Given the description of an element on the screen output the (x, y) to click on. 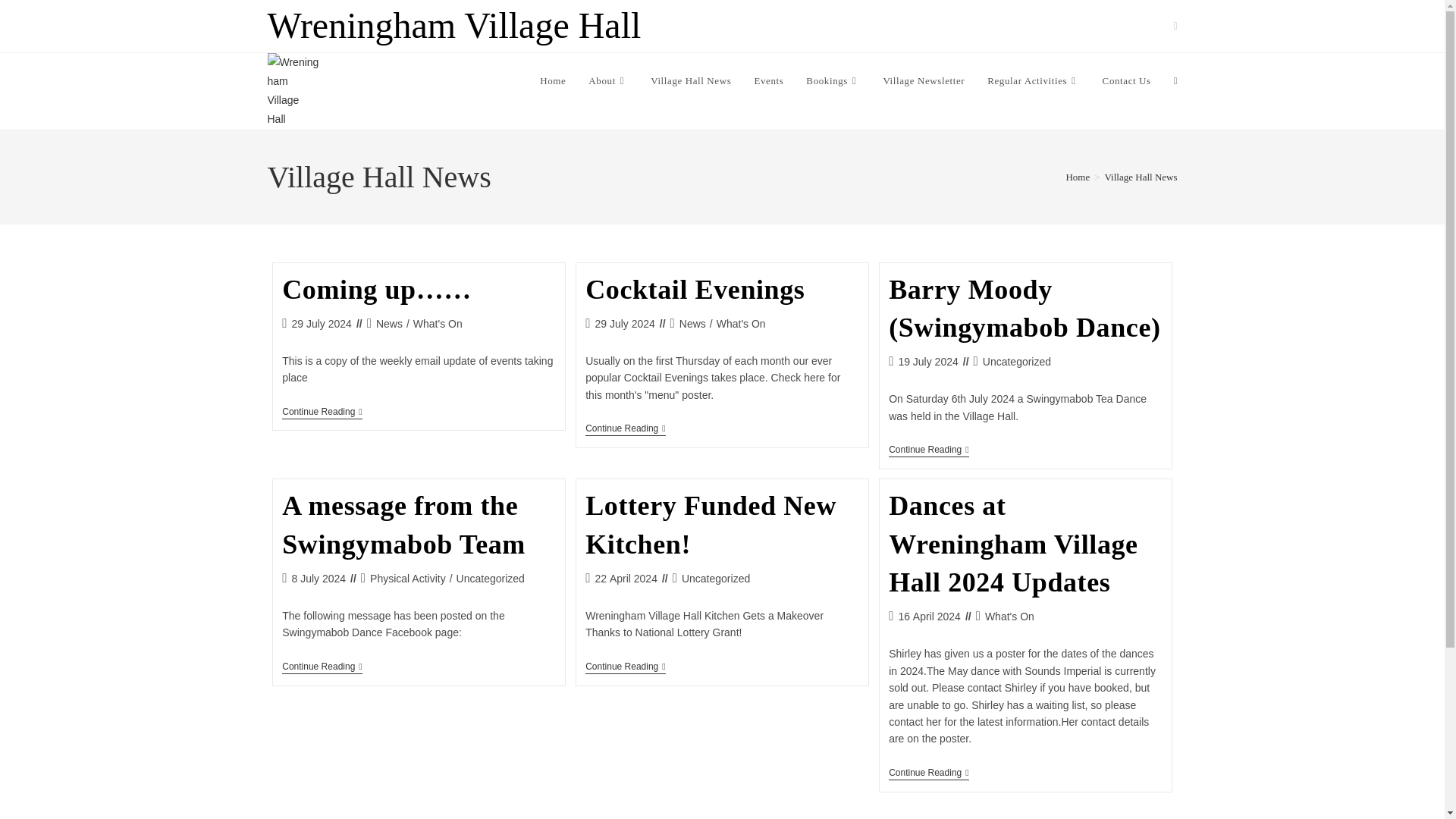
Village Newsletter (922, 80)
About (607, 80)
Contact Us (1125, 80)
Regular Activities (1032, 80)
Bookings (832, 80)
Village Hall News (690, 80)
Events (768, 80)
